Given the description of an element on the screen output the (x, y) to click on. 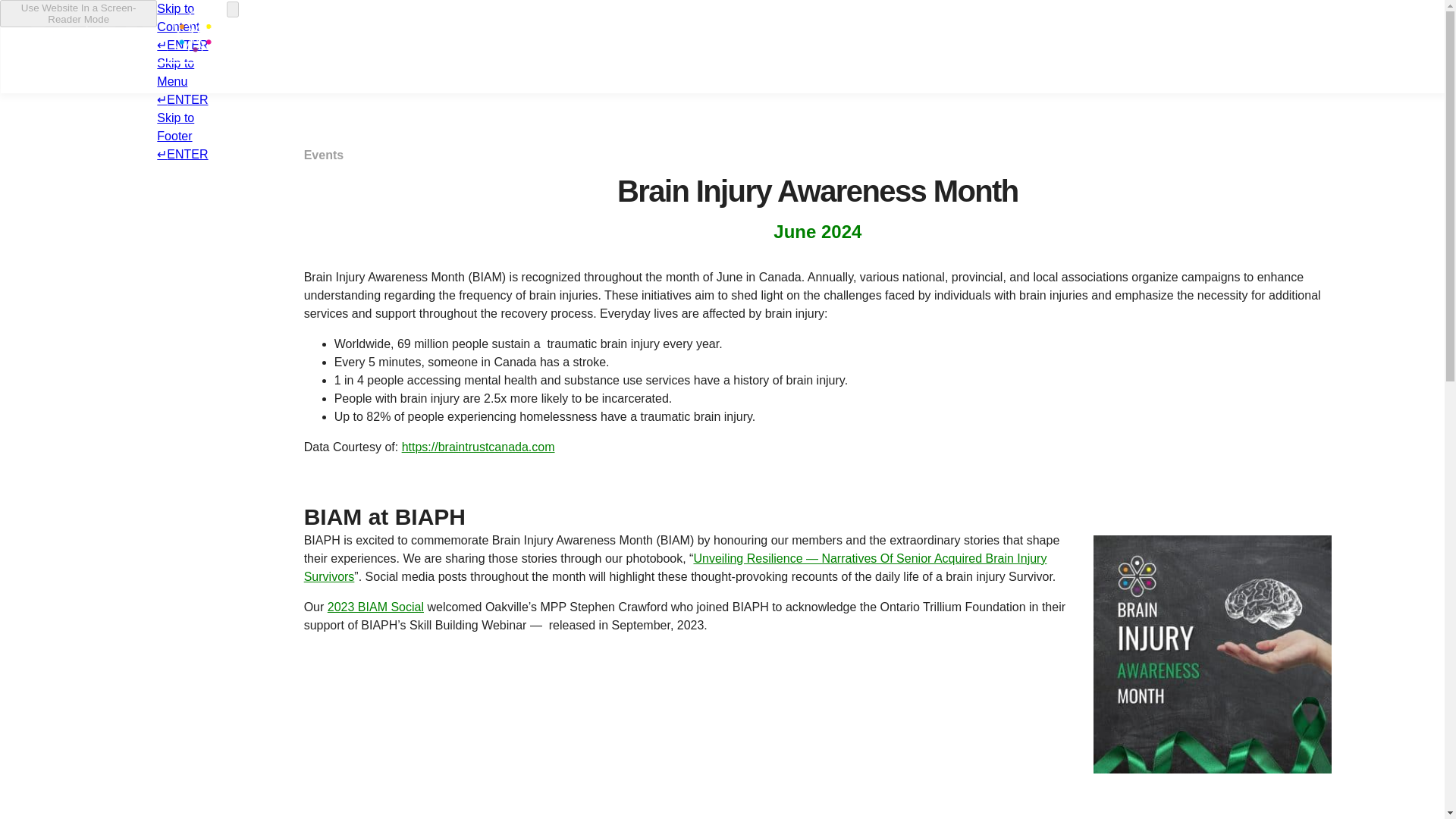
SUPPORT PROGRAMS (662, 47)
ABOUT US (511, 47)
DONATE (1177, 47)
GET INVOLVED (1061, 47)
2023 BIAM Social (375, 606)
